Given the description of an element on the screen output the (x, y) to click on. 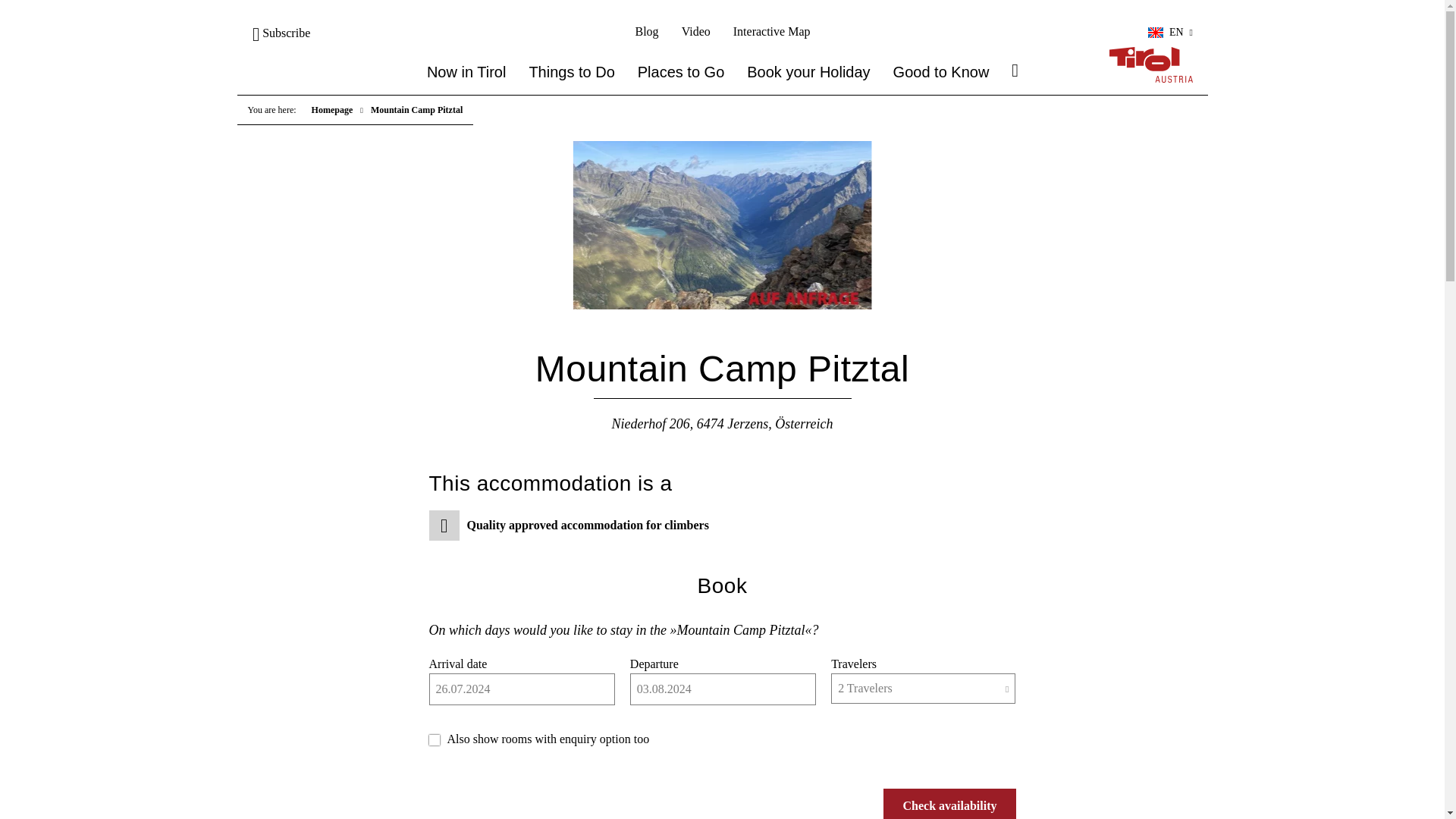
26.07.2024 (521, 689)
Now in Tirol (465, 71)
Blog (646, 31)
Things to Do (571, 71)
Video (695, 31)
Interactive Map (770, 31)
03.08.2024 (722, 689)
Subscribe (279, 32)
Quality approved accommodation for climbers (584, 524)
